Given the description of an element on the screen output the (x, y) to click on. 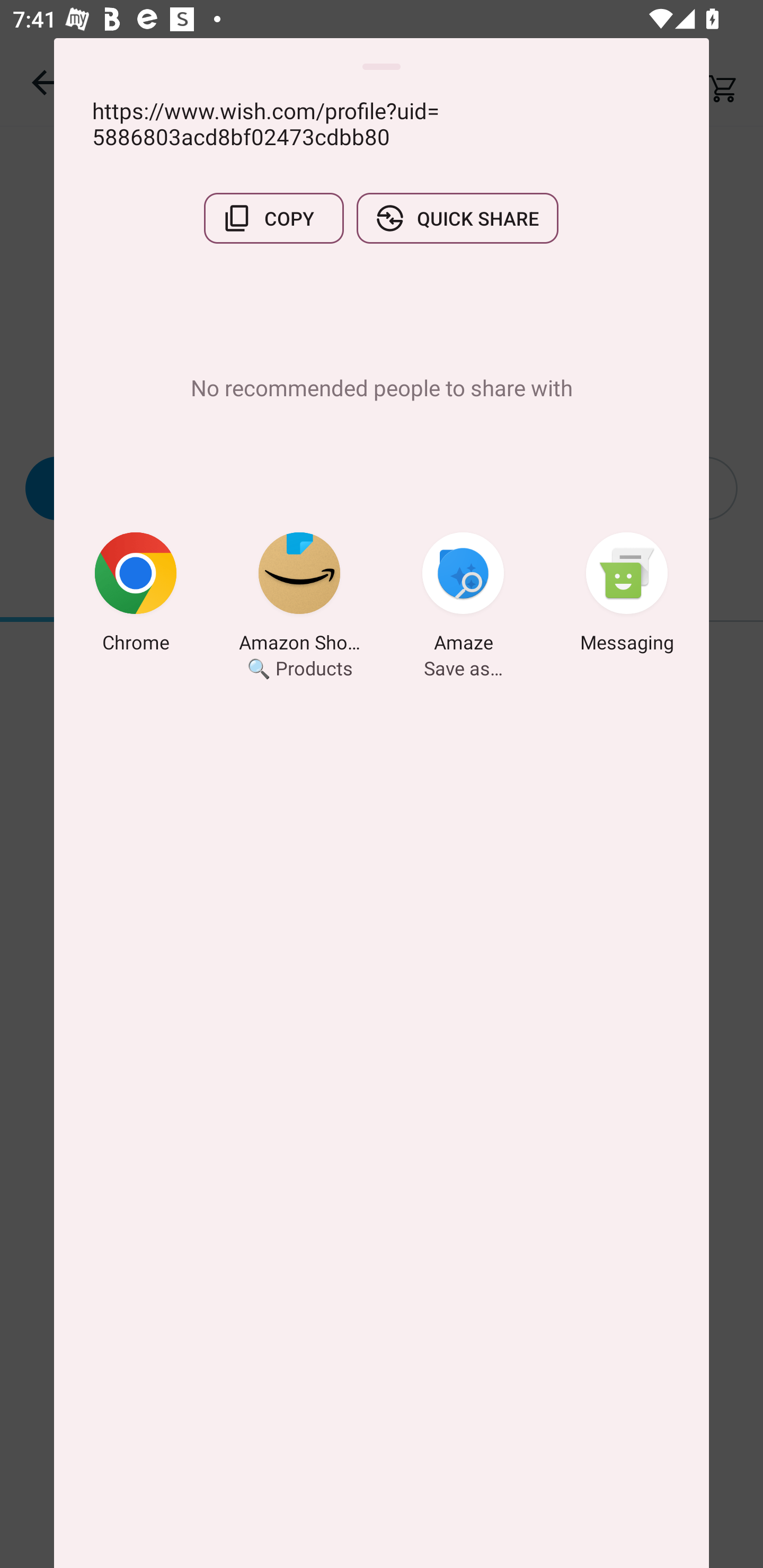
COPY (273, 218)
QUICK SHARE (457, 218)
Chrome (135, 594)
Amazon Shopping 🔍 Products (299, 594)
Amaze Save as… (463, 594)
Messaging (626, 594)
